Given the description of an element on the screen output the (x, y) to click on. 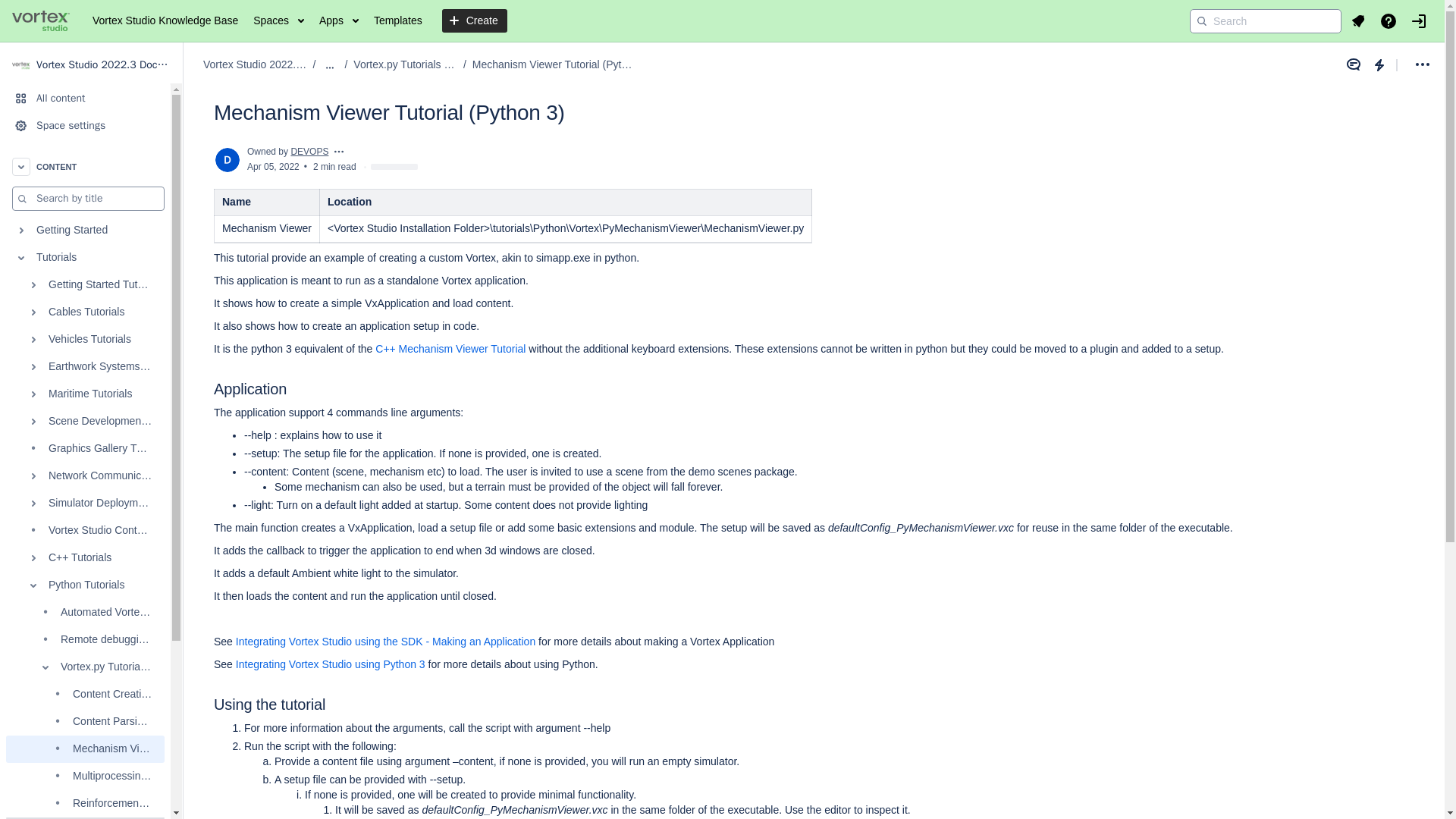
Cables Tutorials (84, 311)
Getting Started Tutorials (84, 284)
Tutorials (84, 257)
All content (84, 98)
Getting Started (84, 230)
Earthwork Systems Tutorials (84, 366)
Apps (338, 21)
Space settings (84, 125)
Maritime Tutorials (84, 393)
Scene Development Tutorials (84, 420)
